Given the description of an element on the screen output the (x, y) to click on. 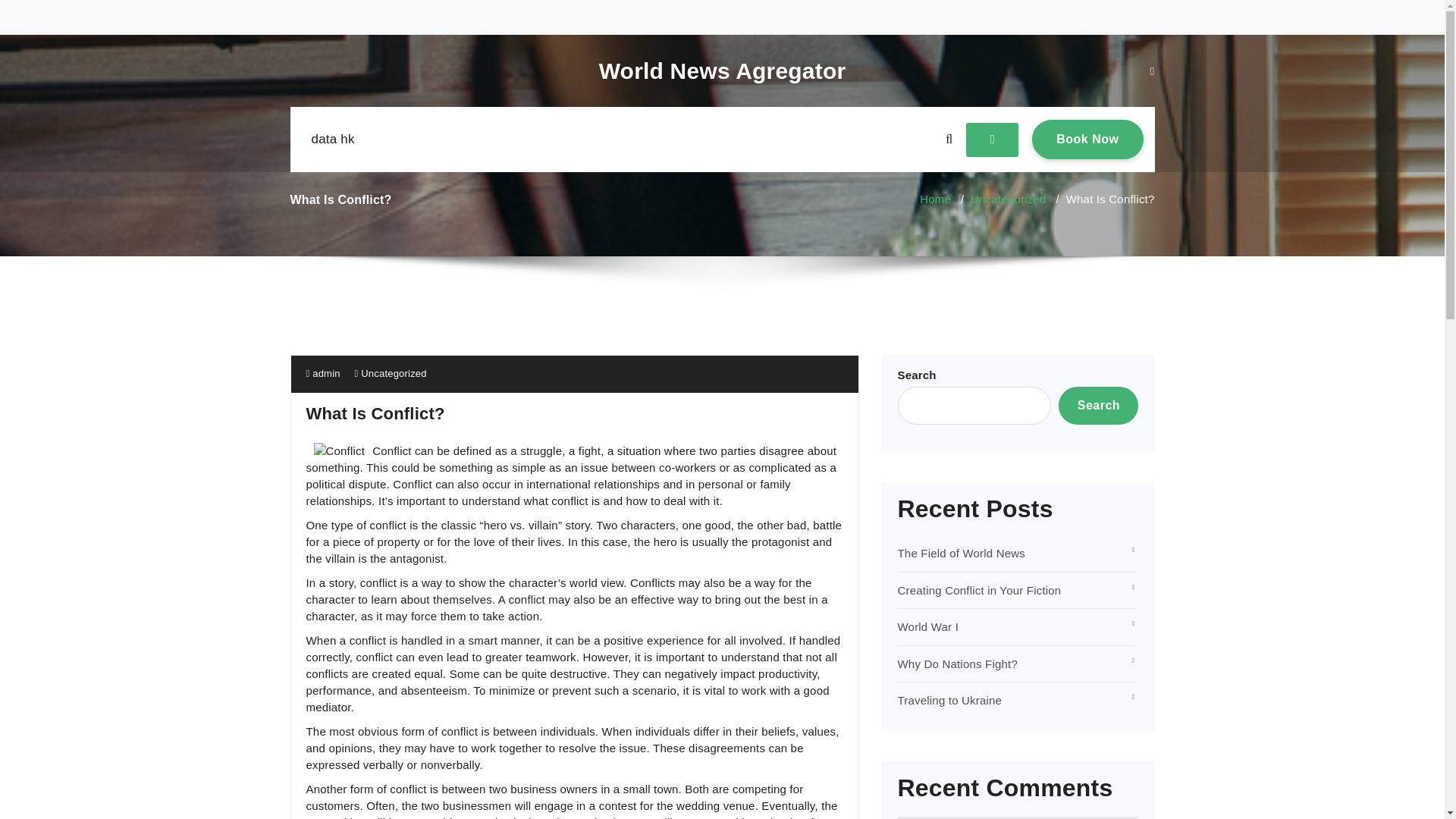
Uncategorized (393, 373)
Search (1098, 405)
World News Agregator (721, 71)
Traveling to Ukraine (950, 699)
Creating Conflict in Your Fiction (979, 590)
Uncategorized (1087, 138)
Why Do Nations Fight? (1008, 198)
The Field of World News (957, 663)
World War I (962, 553)
